Given the description of an element on the screen output the (x, y) to click on. 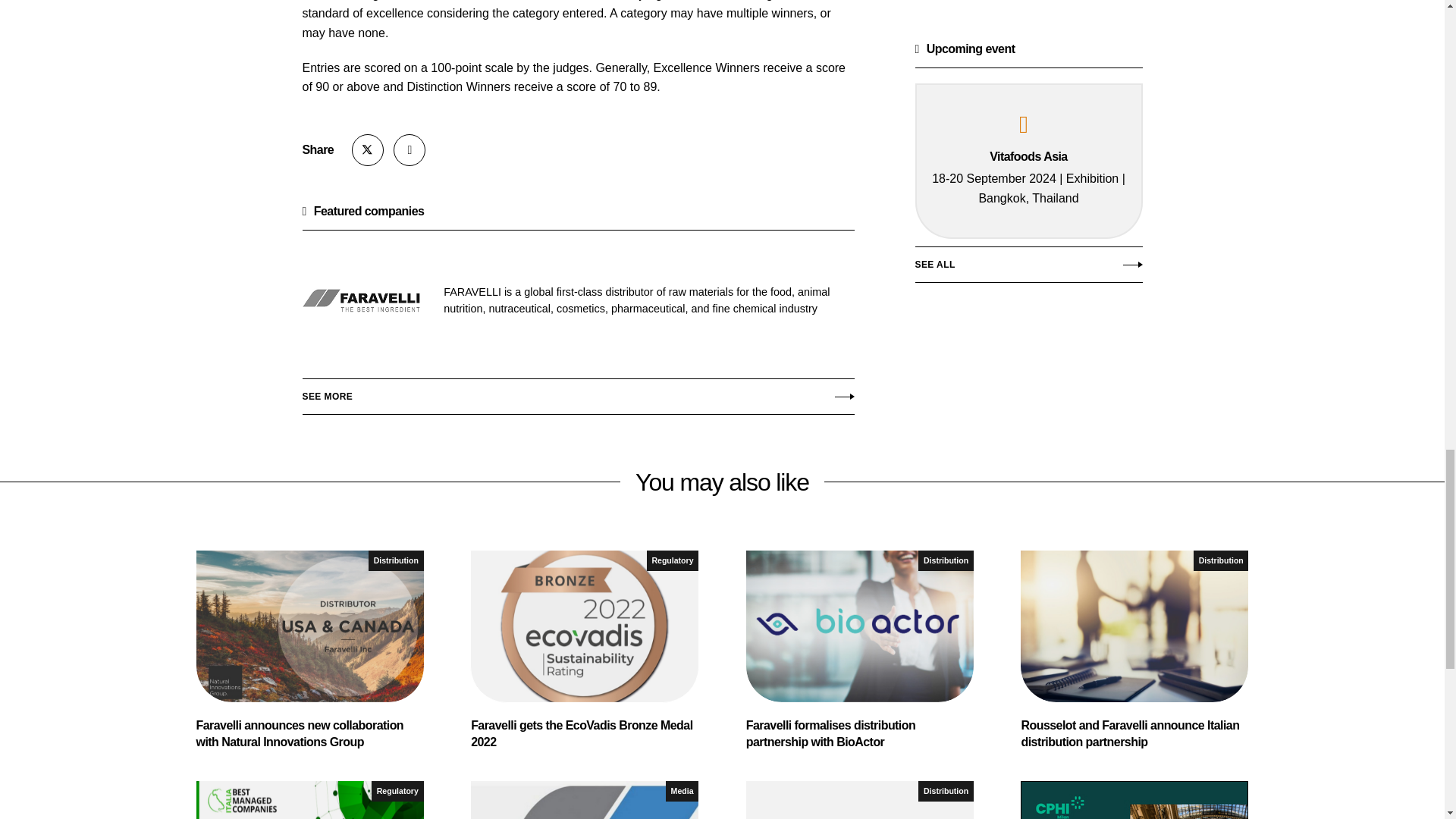
LinkedIn (409, 150)
X (368, 150)
SEE MORE (577, 392)
Follow Nutraceutical Business Review on LinkedIn (409, 150)
SEE MORE (1027, 5)
Follow Nutraceutical Business Review on X (368, 150)
